Given the description of an element on the screen output the (x, y) to click on. 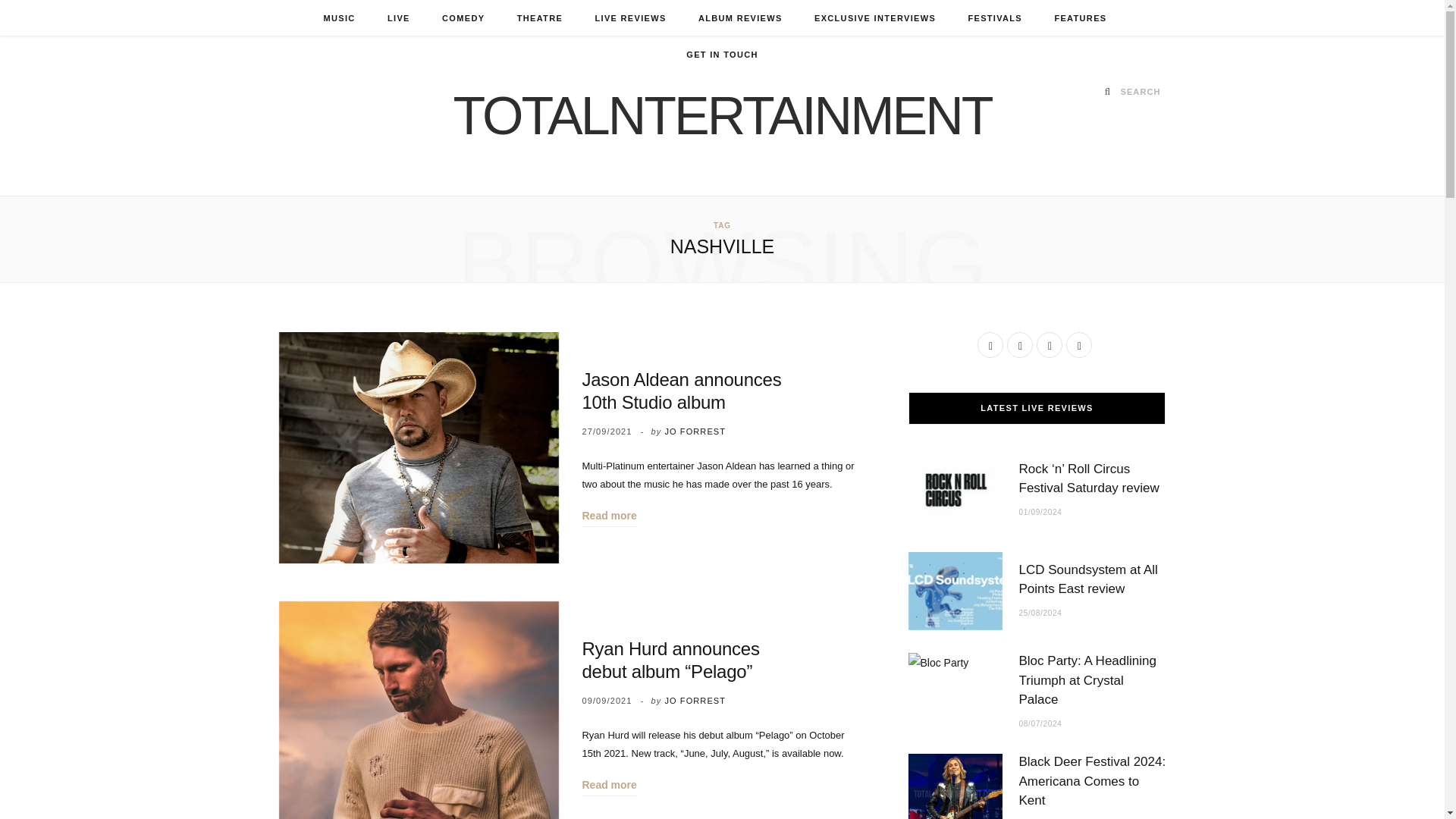
JO FORREST (694, 430)
TotalNtertainment (721, 115)
THEATRE (539, 18)
FESTIVALS (994, 18)
FEATURES (1080, 18)
LIVE (398, 18)
JO FORREST (694, 700)
Posts by Jo Forrest (694, 430)
LIVE REVIEWS (629, 18)
TOTALNTERTAINMENT (721, 115)
